Given the description of an element on the screen output the (x, y) to click on. 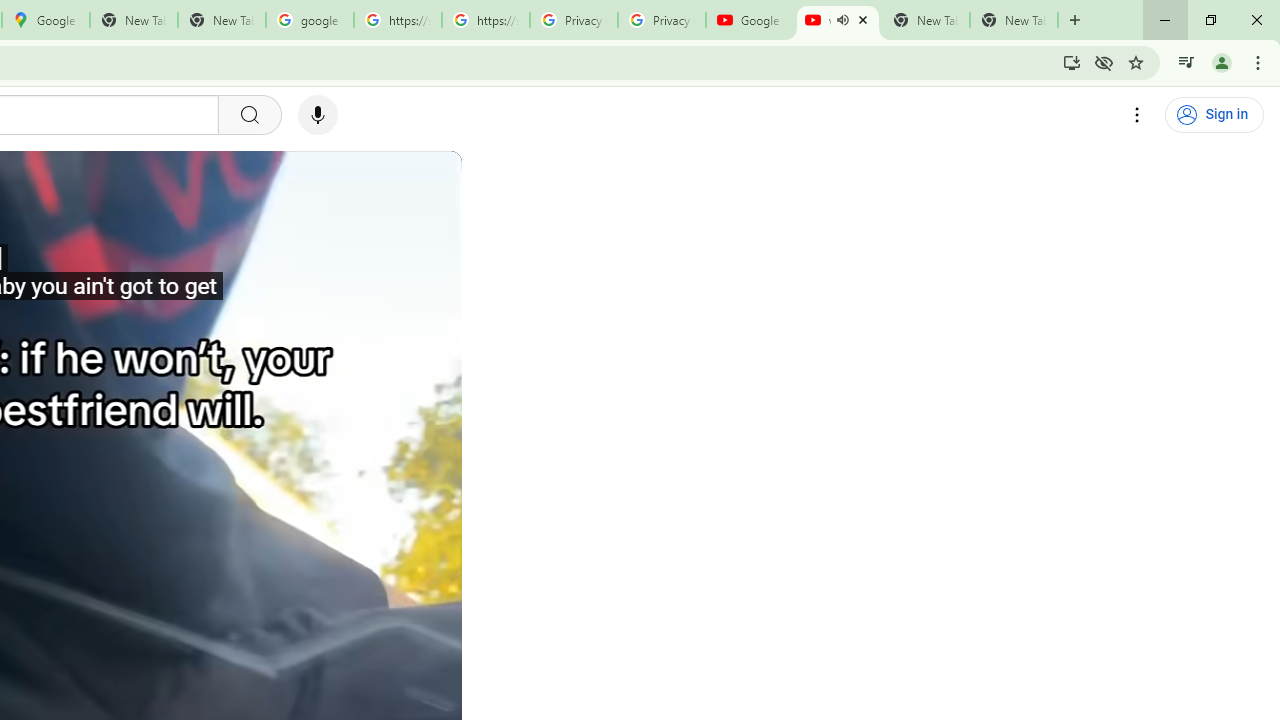
Settings (1137, 115)
Control your music, videos, and more (1185, 62)
Chrome (1260, 62)
Restore (1210, 20)
Mute tab (842, 20)
You (1221, 62)
Bookmark this tab (1135, 62)
Install YouTube (1071, 62)
Settings (1137, 115)
Search with your voice (317, 115)
New Tab (1075, 20)
Google - YouTube (749, 20)
Sign in (1214, 115)
